Given the description of an element on the screen output the (x, y) to click on. 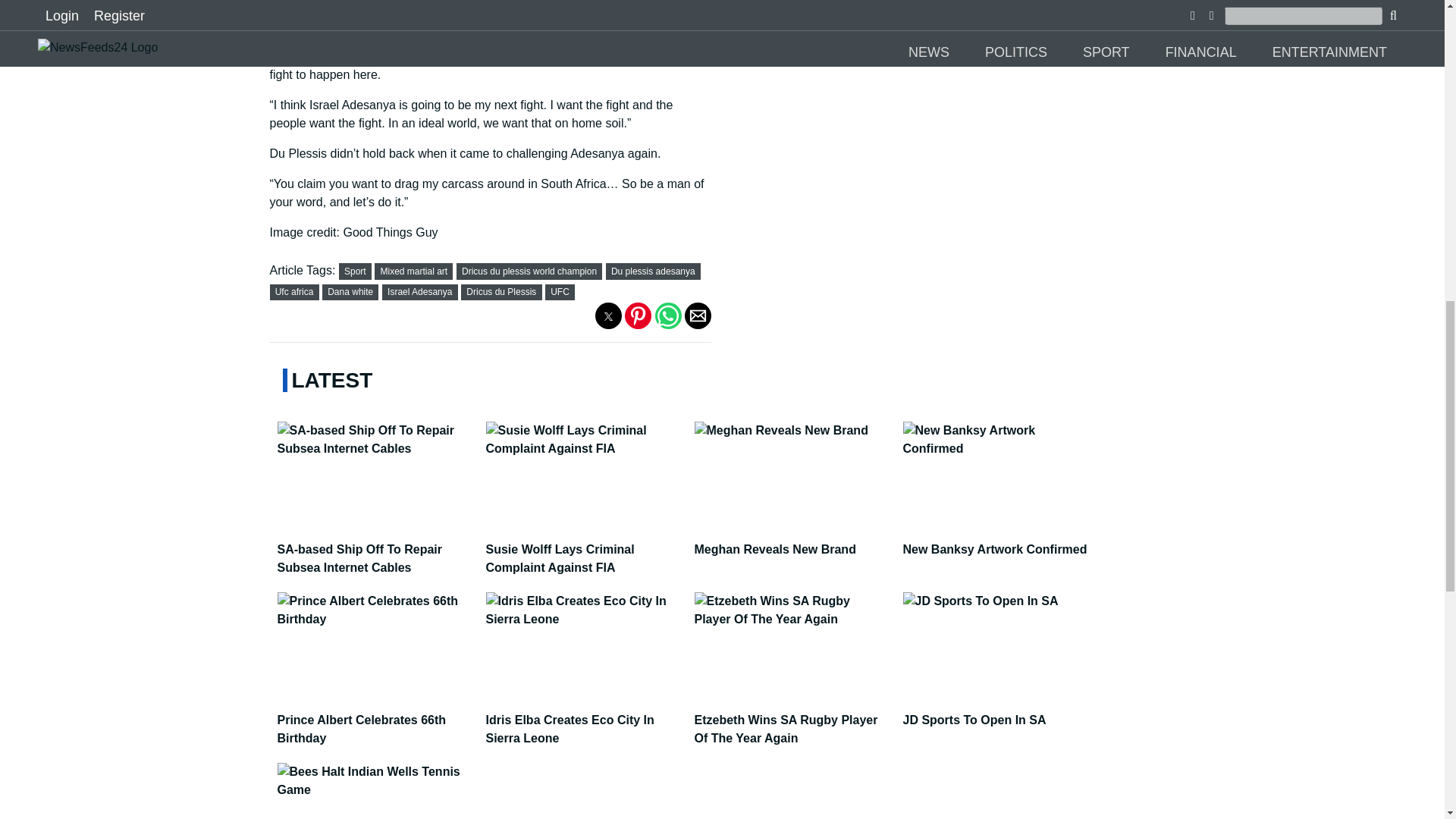
Du plessis adesanya (653, 271)
New Banksy Artwork Confirmed (1002, 541)
Sport (354, 271)
Dricus du Plessis (500, 291)
Susie Wolff Lays Criminal Complaint Against FIA (584, 550)
Mixed martial art (414, 271)
UFC (559, 291)
Idris Elba Creates Eco City In Sierra Leone (584, 721)
Ufc africa (294, 291)
Dricus du plessis world champion (528, 271)
Dana white (349, 291)
Etzebeth Wins SA Rugby Player Of The Year Again (793, 721)
Meghan Reveals New Brand (793, 541)
SA-based Ship Off To Repair Subsea Internet Cables (377, 550)
Prince Albert Celebrates 66th Birthday (377, 721)
